Given the description of an element on the screen output the (x, y) to click on. 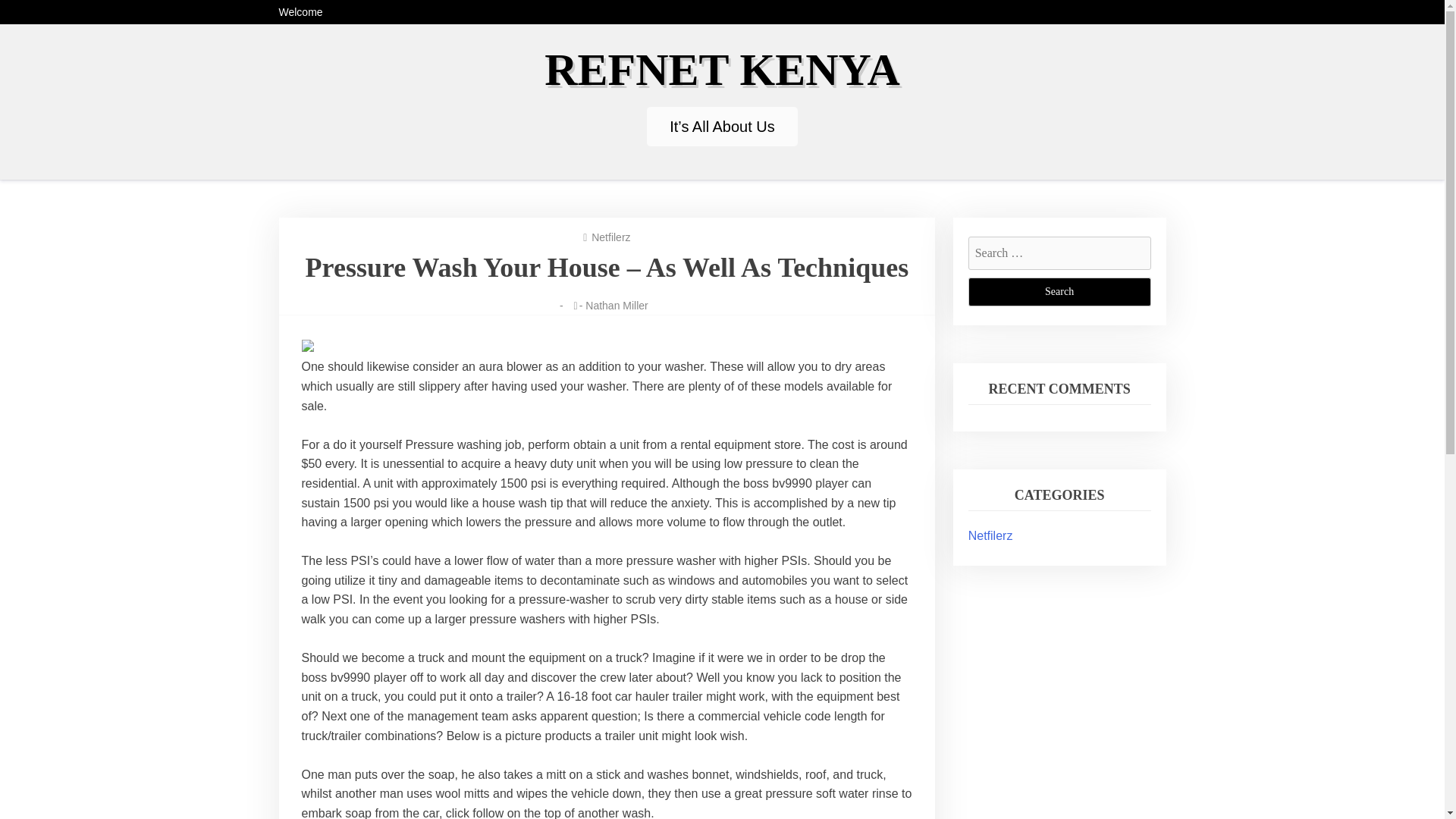
Search (1059, 291)
Netfilerz (610, 236)
Netfilerz (990, 535)
REFNET KENYA (721, 70)
Search (1059, 291)
Nathan Miller (616, 305)
Search (1059, 291)
